Given the description of an element on the screen output the (x, y) to click on. 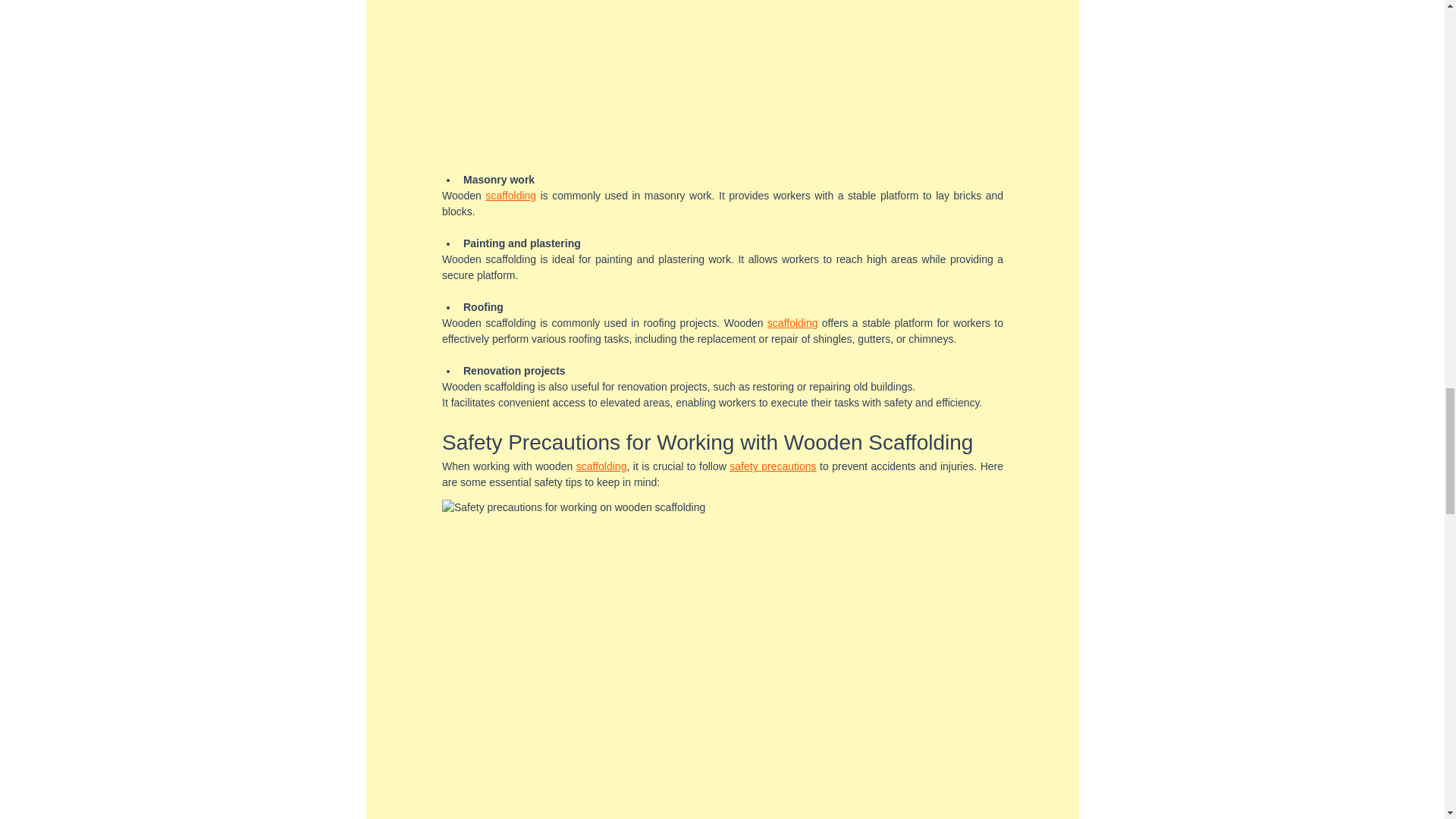
scaffolding (600, 466)
scaffolding (509, 195)
scaffolding (791, 322)
safety precautions (772, 466)
